Given the description of an element on the screen output the (x, y) to click on. 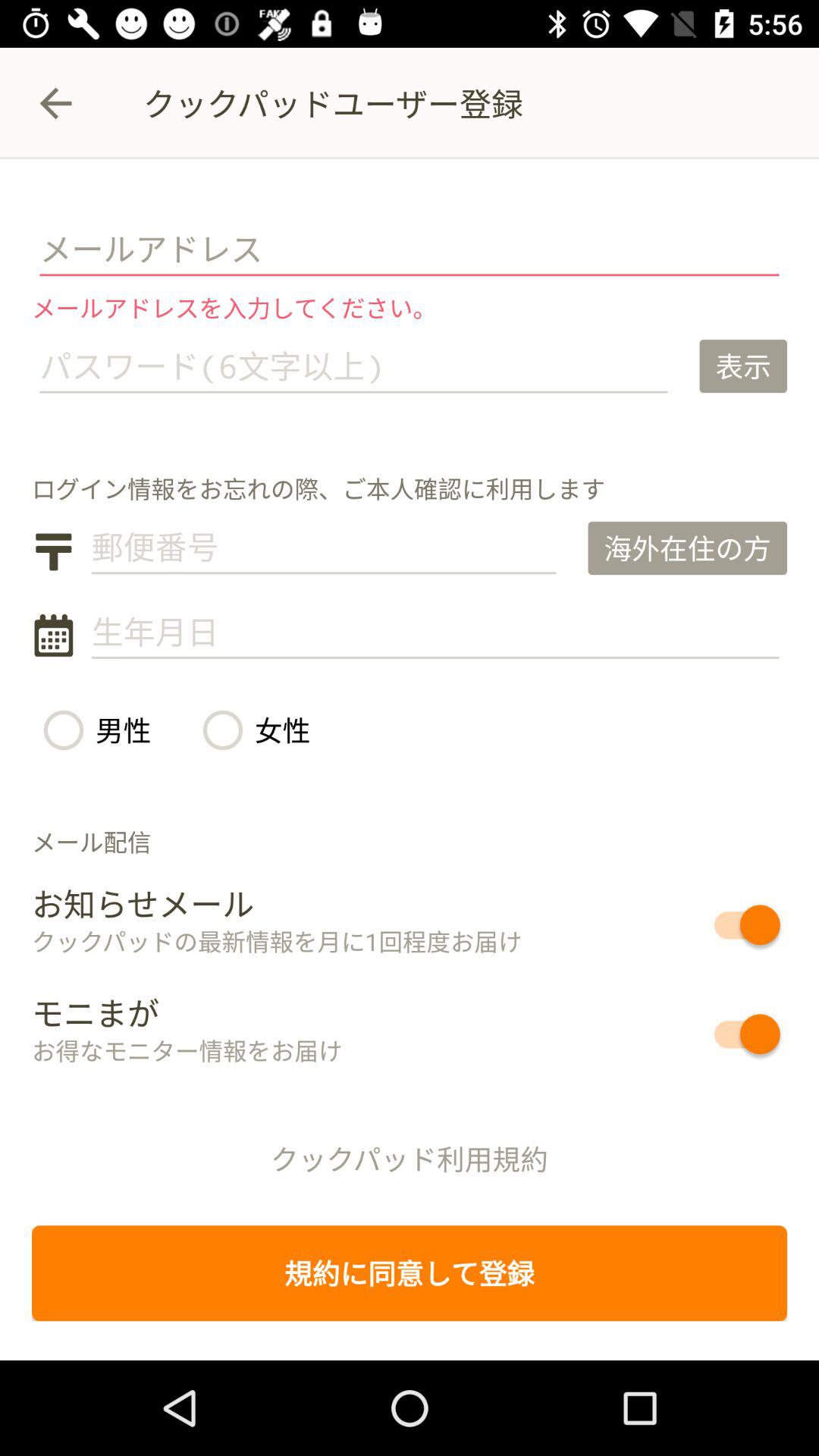
turn off the item at the bottom right corner (692, 1033)
